Given the description of an element on the screen output the (x, y) to click on. 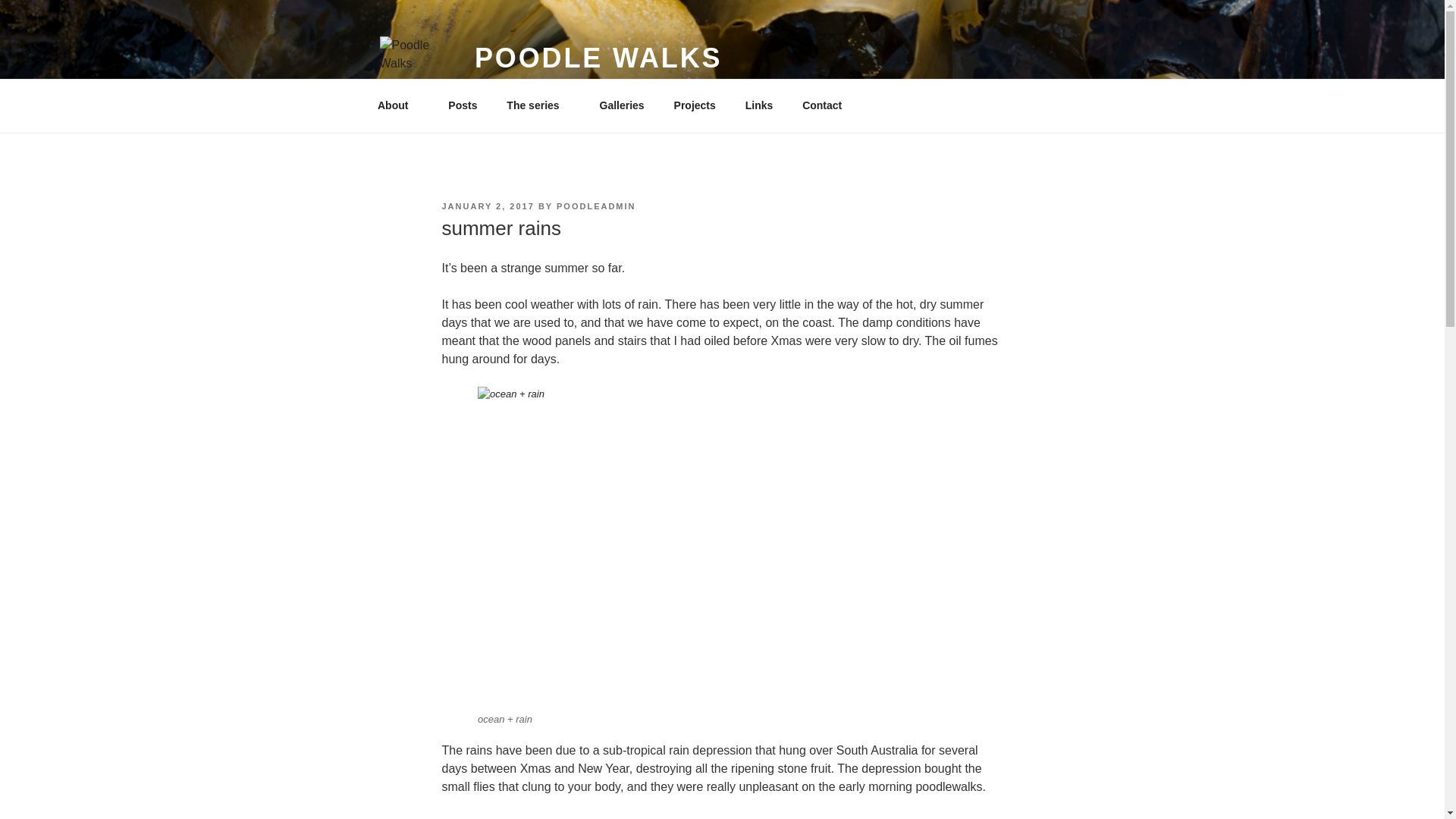
JANUARY 2, 2017 (487, 205)
POODLEADMIN (596, 205)
Contact (822, 105)
Galleries (622, 105)
The series (538, 105)
Links (759, 105)
Posts (462, 105)
Projects (695, 105)
About (397, 105)
POODLE WALKS (598, 57)
